Given the description of an element on the screen output the (x, y) to click on. 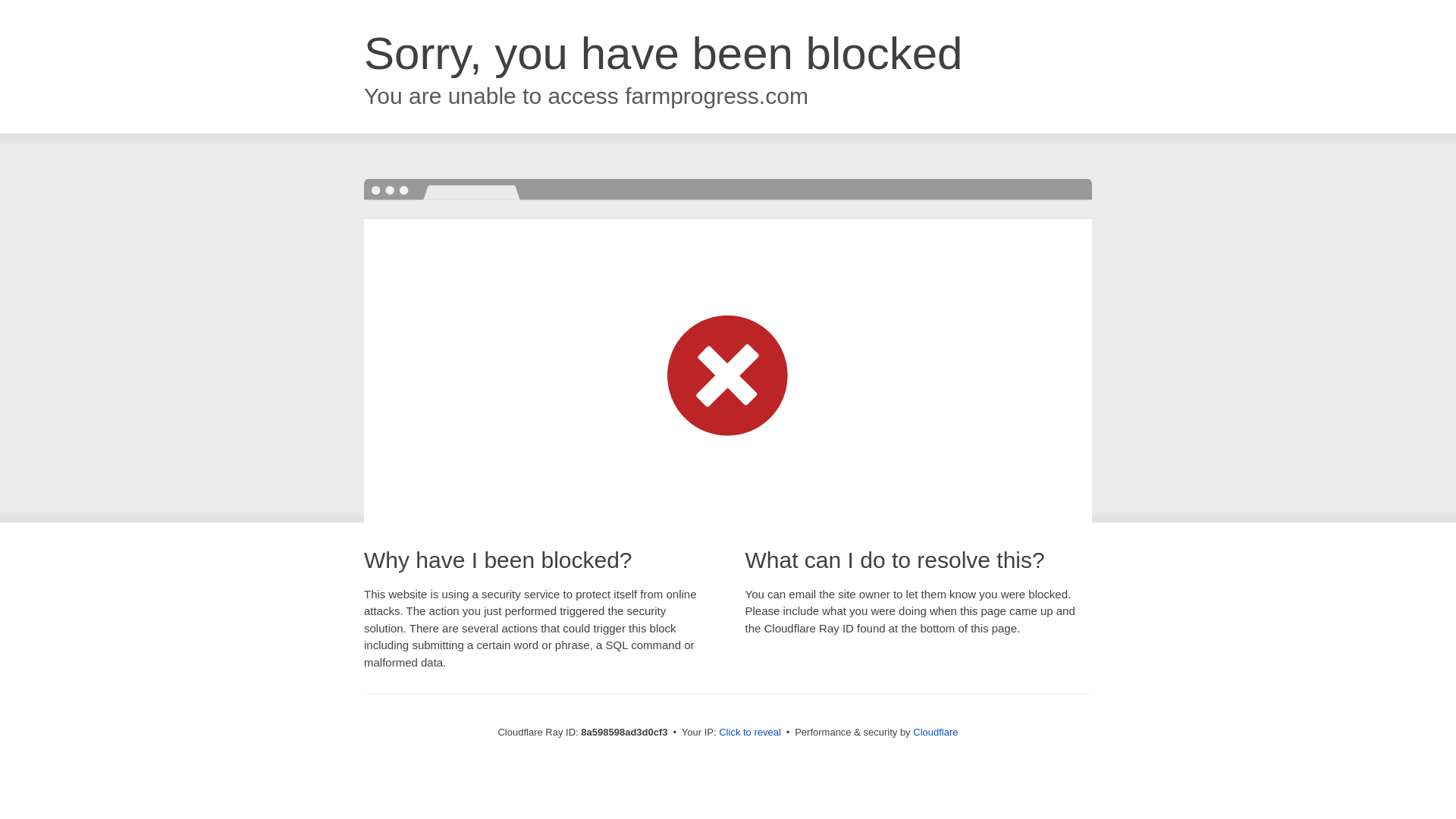
Cloudflare (935, 731)
Click to reveal (749, 732)
